Given the description of an element on the screen output the (x, y) to click on. 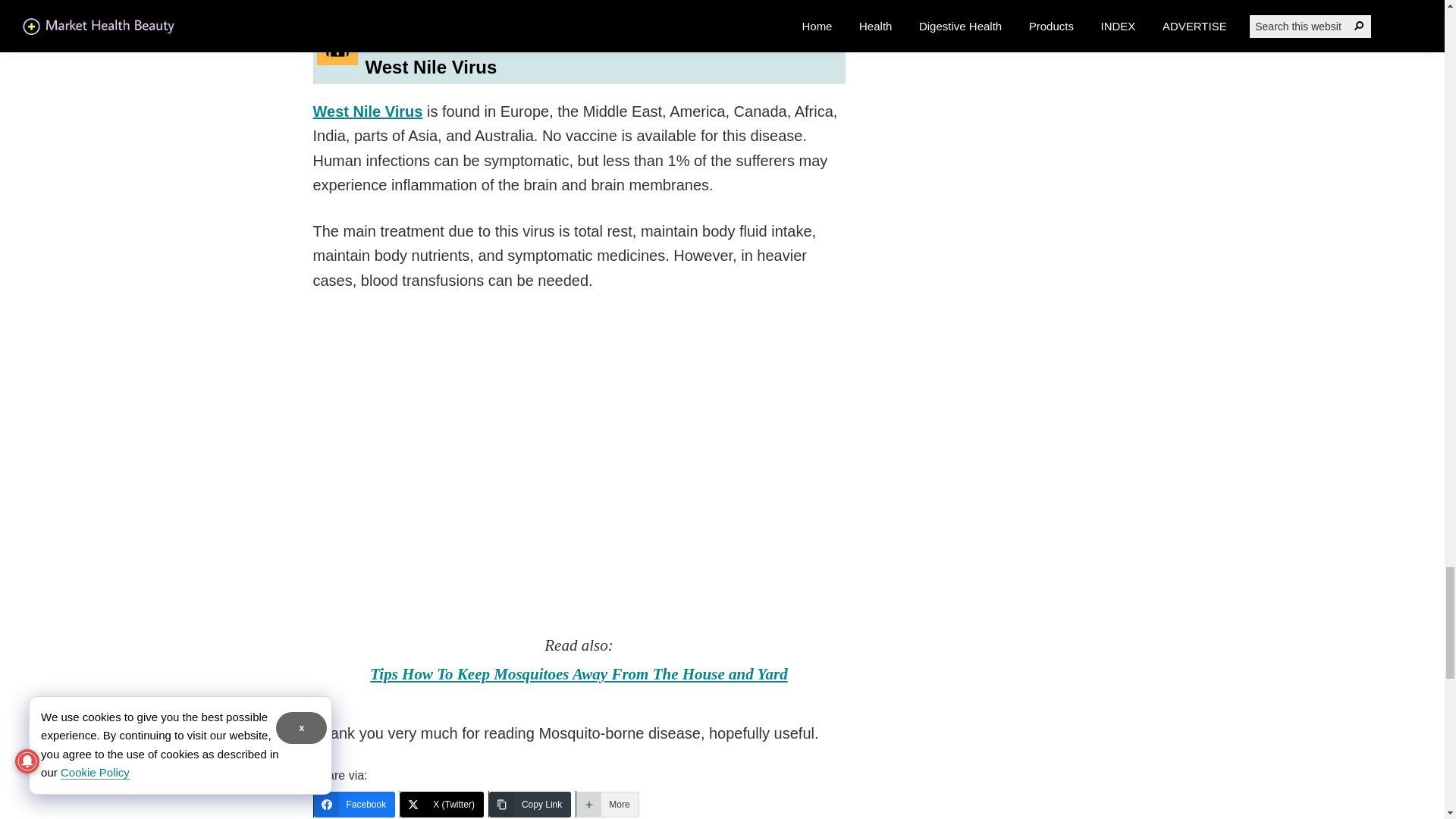
Tips How To Keep Mosquitoes Away From The House and Yard (578, 674)
West Nile Virus (367, 111)
Facebook (355, 804)
Copy Link (529, 804)
More (607, 804)
